Given the description of an element on the screen output the (x, y) to click on. 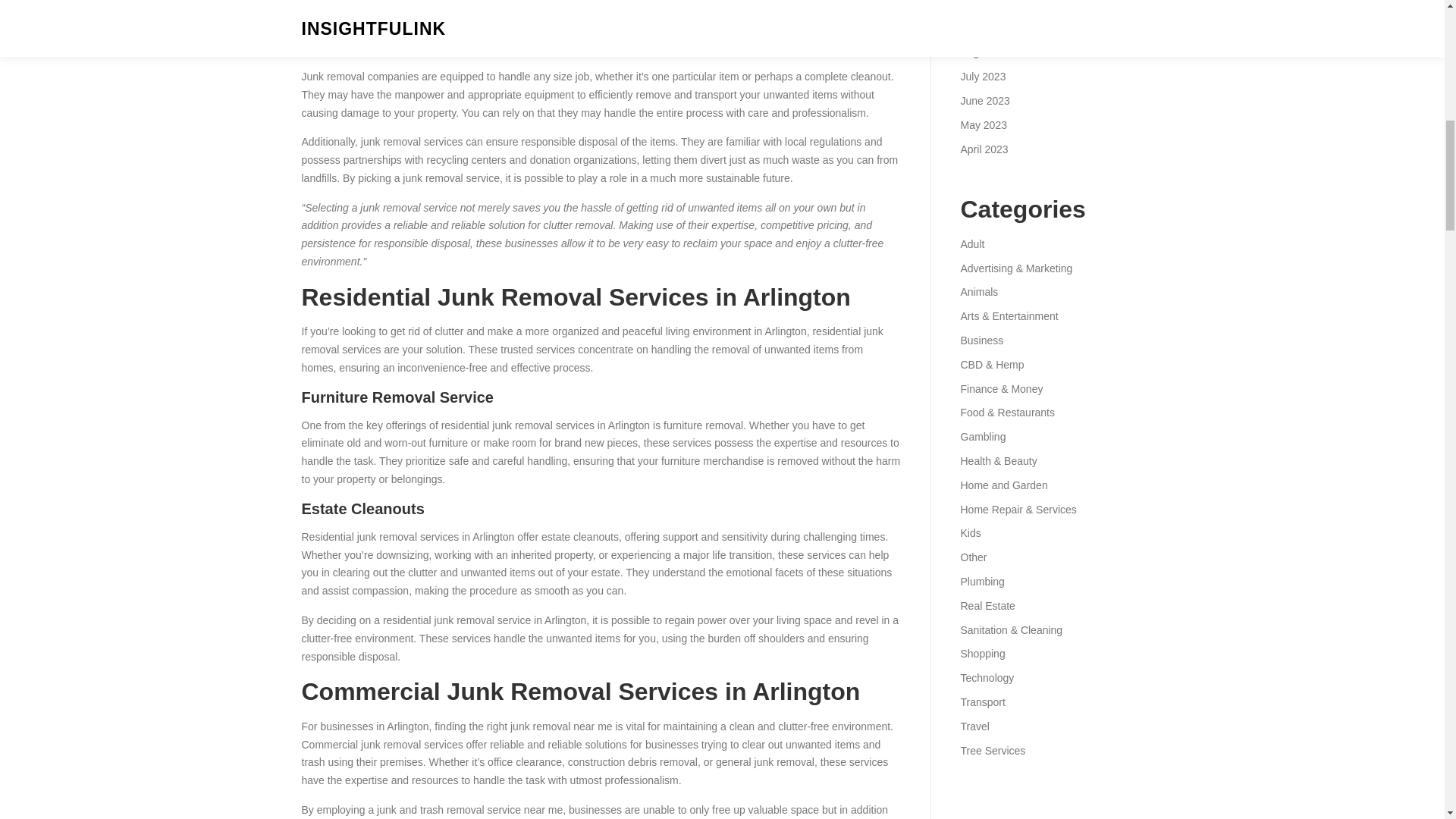
April 2023 (983, 149)
May 2023 (982, 124)
Animals (978, 291)
July 2023 (982, 76)
August 2023 (989, 51)
Adult (971, 244)
Business (981, 340)
October 2023 (992, 5)
June 2023 (984, 101)
Gambling (982, 436)
September 2023 (999, 28)
